Given the description of an element on the screen output the (x, y) to click on. 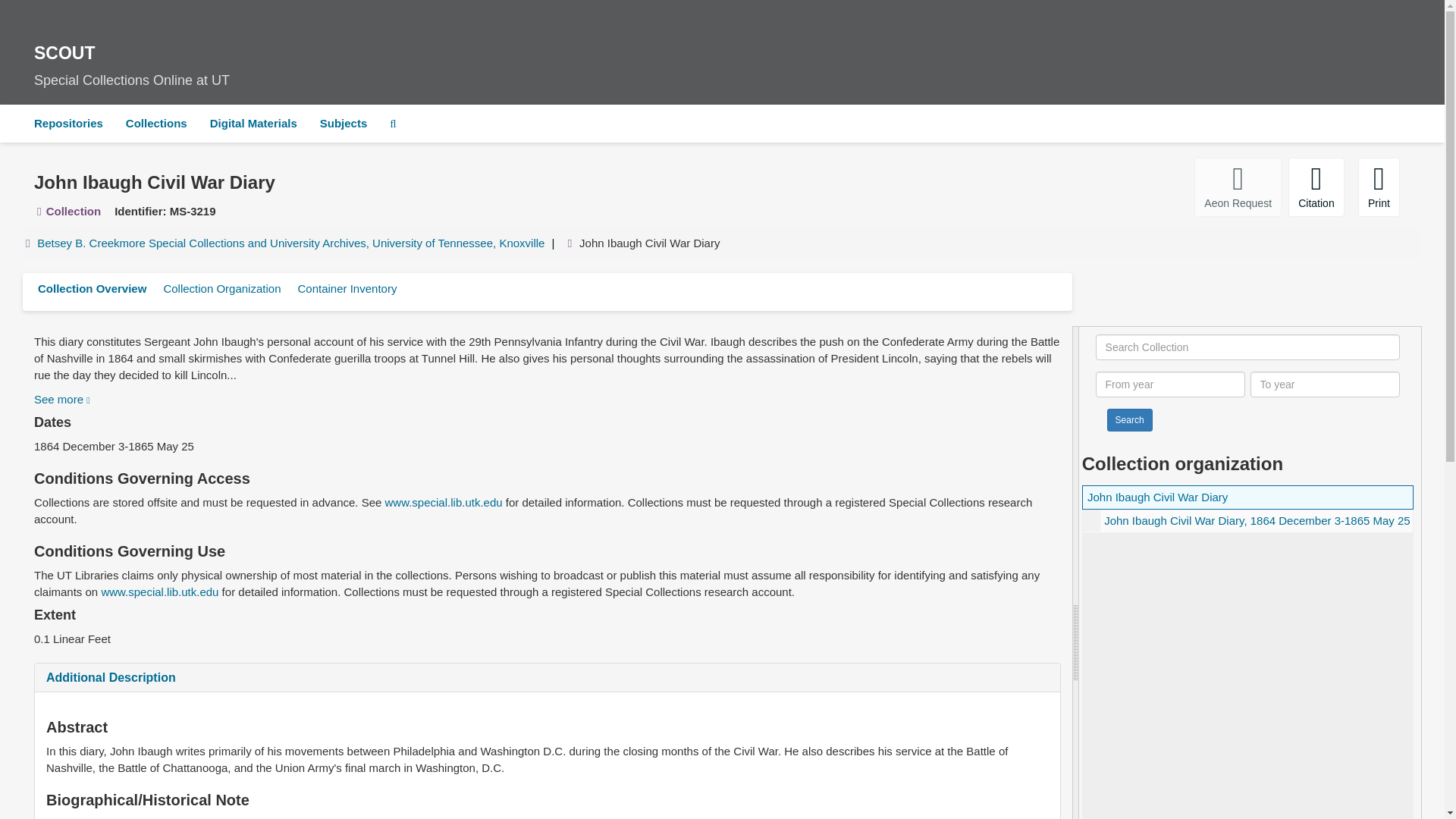
Collection Organization (221, 288)
Collection Overview (91, 288)
Page Actions (1130, 187)
John Ibaugh Civil War Diary (1247, 520)
www.special.lib.utk.edu (443, 502)
John Ibaugh Civil War Diary (1157, 496)
Digital Materials (721, 61)
See more (253, 123)
Subjects (61, 399)
Search (343, 123)
Citation (1129, 419)
John Ibaugh Civil War Diary, 1864 December 3-1865 May 25 (1315, 187)
Additional Description (1256, 520)
